Given the description of an element on the screen output the (x, y) to click on. 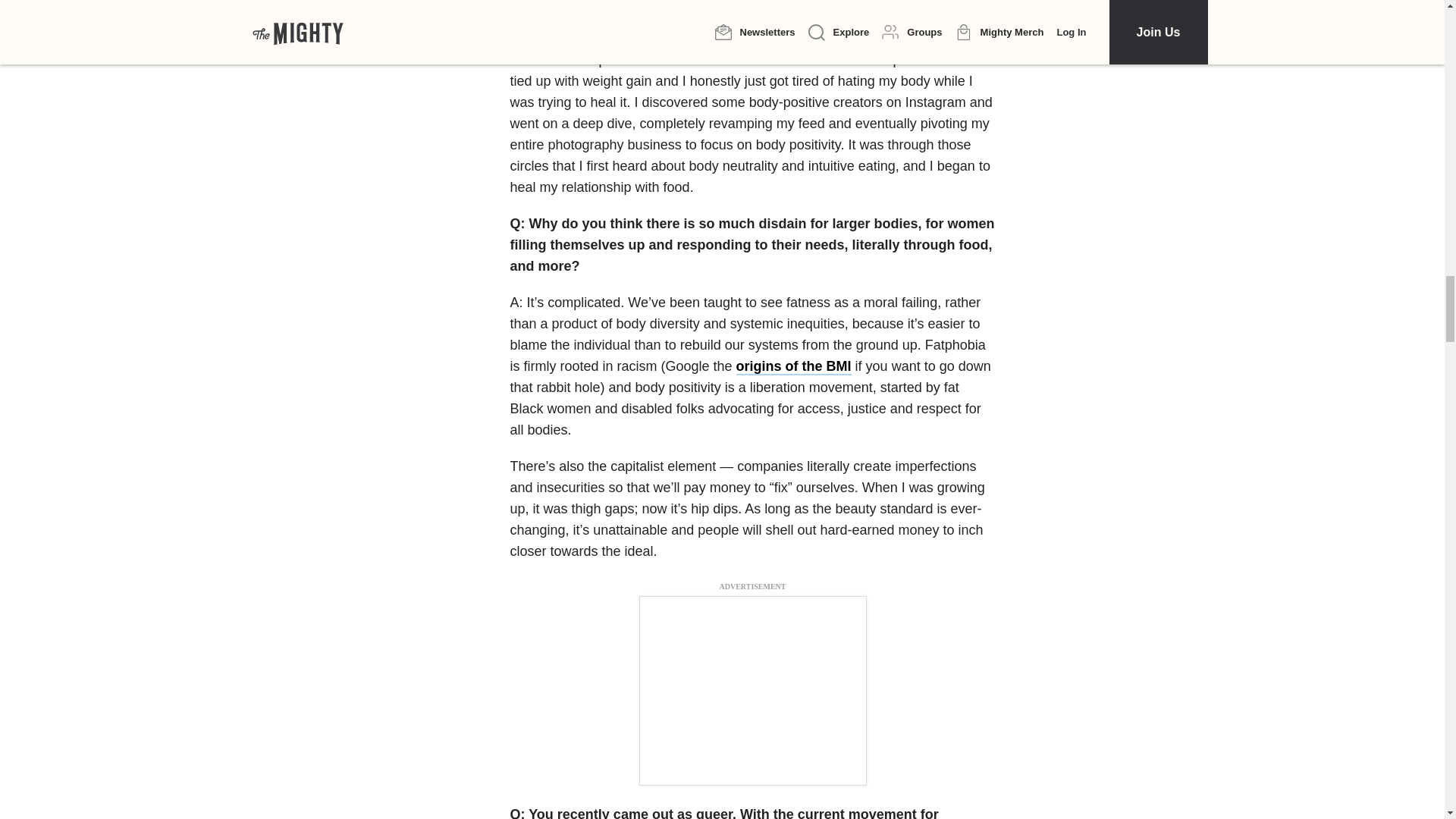
origins of the BMI (793, 366)
